Given the description of an element on the screen output the (x, y) to click on. 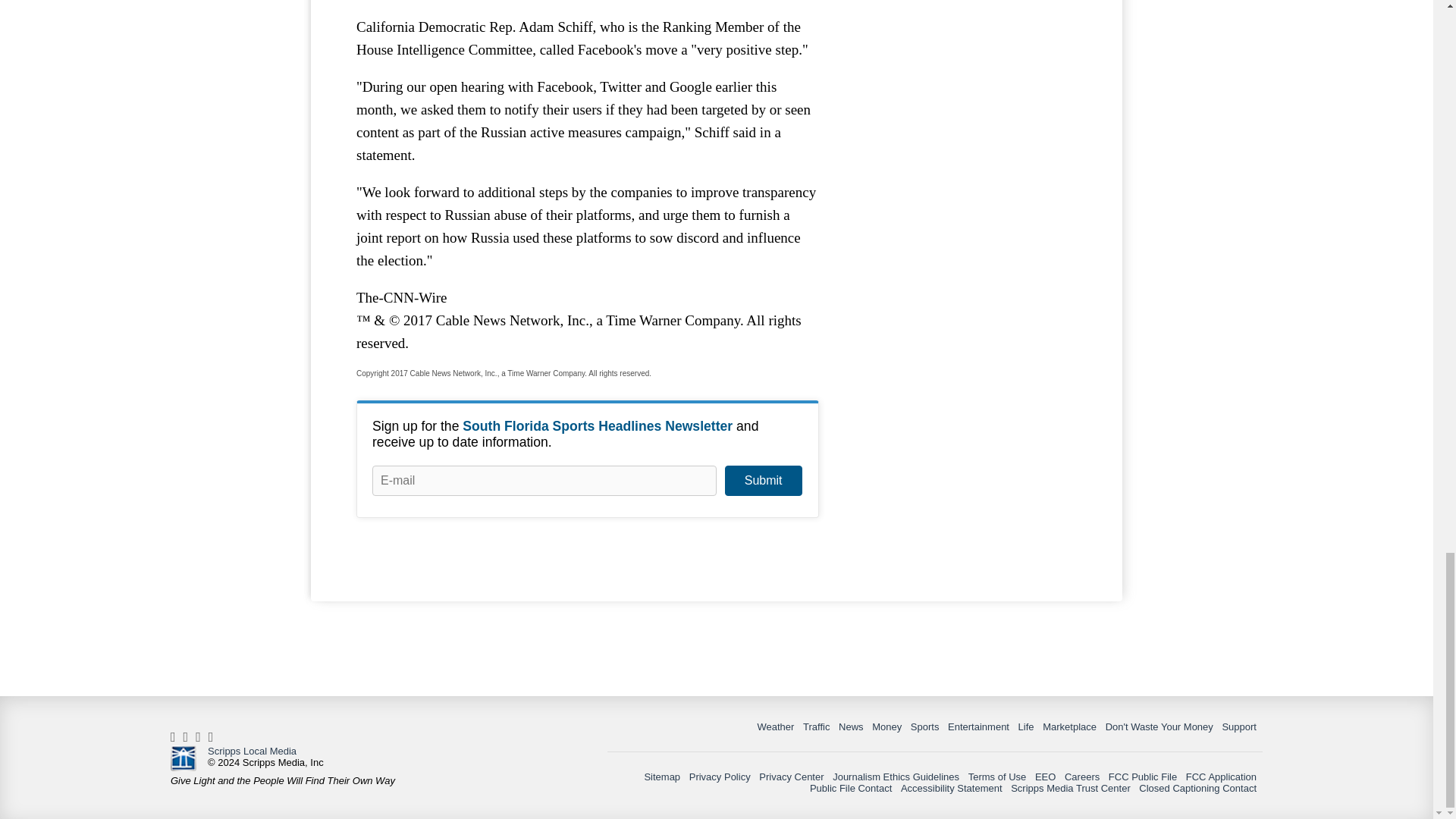
Submit (763, 481)
